Given the description of an element on the screen output the (x, y) to click on. 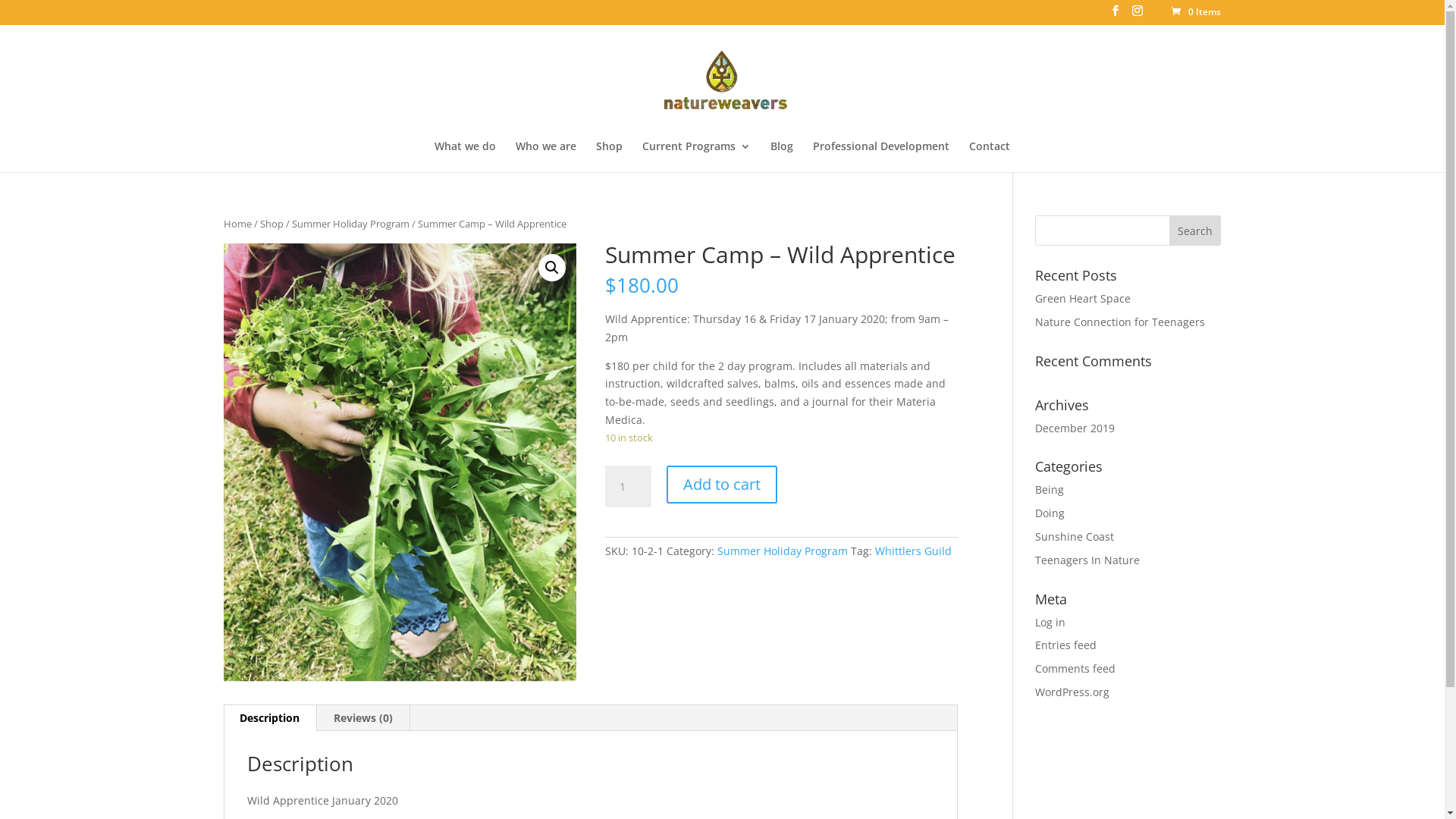
Shop Element type: text (609, 156)
Log in Element type: text (1050, 622)
Who we are Element type: text (545, 156)
Green Heart Space Element type: text (1082, 298)
Doing Element type: text (1049, 512)
0 Items Element type: text (1194, 11)
Add to cart Element type: text (721, 484)
Description Element type: text (269, 718)
WordPress.org Element type: text (1072, 691)
Entries feed Element type: text (1065, 644)
Current Programs Element type: text (696, 156)
Blog Element type: text (781, 156)
Image-1(4) Element type: hover (399, 462)
Summer Holiday Program Element type: text (782, 550)
Sunshine Coast Element type: text (1074, 536)
Teenagers In Nature Element type: text (1087, 559)
December 2019 Element type: text (1074, 427)
Shop Element type: text (271, 223)
Contact Element type: text (989, 156)
Whittlers Guild Element type: text (913, 550)
Nature Connection for Teenagers Element type: text (1119, 321)
Comments feed Element type: text (1075, 668)
What we do Element type: text (464, 156)
Being Element type: text (1049, 489)
Home Element type: text (237, 223)
Professional Development Element type: text (880, 156)
Reviews (0) Element type: text (362, 718)
Search Element type: text (1194, 230)
Summer Holiday Program Element type: text (350, 223)
